Given the description of an element on the screen output the (x, y) to click on. 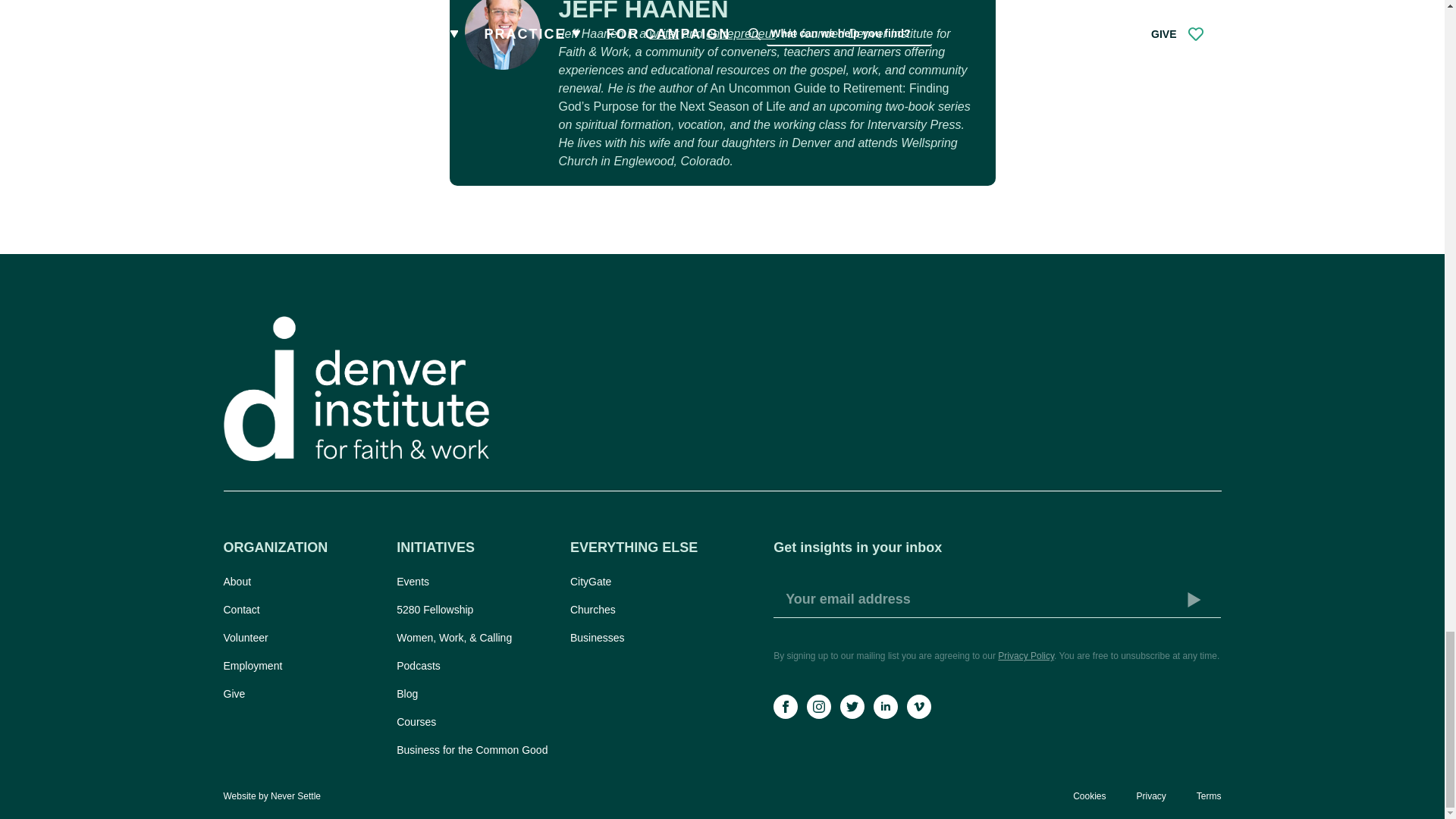
entrepreneur (740, 33)
Contact (301, 609)
writer (664, 33)
About (301, 581)
